Given the description of an element on the screen output the (x, y) to click on. 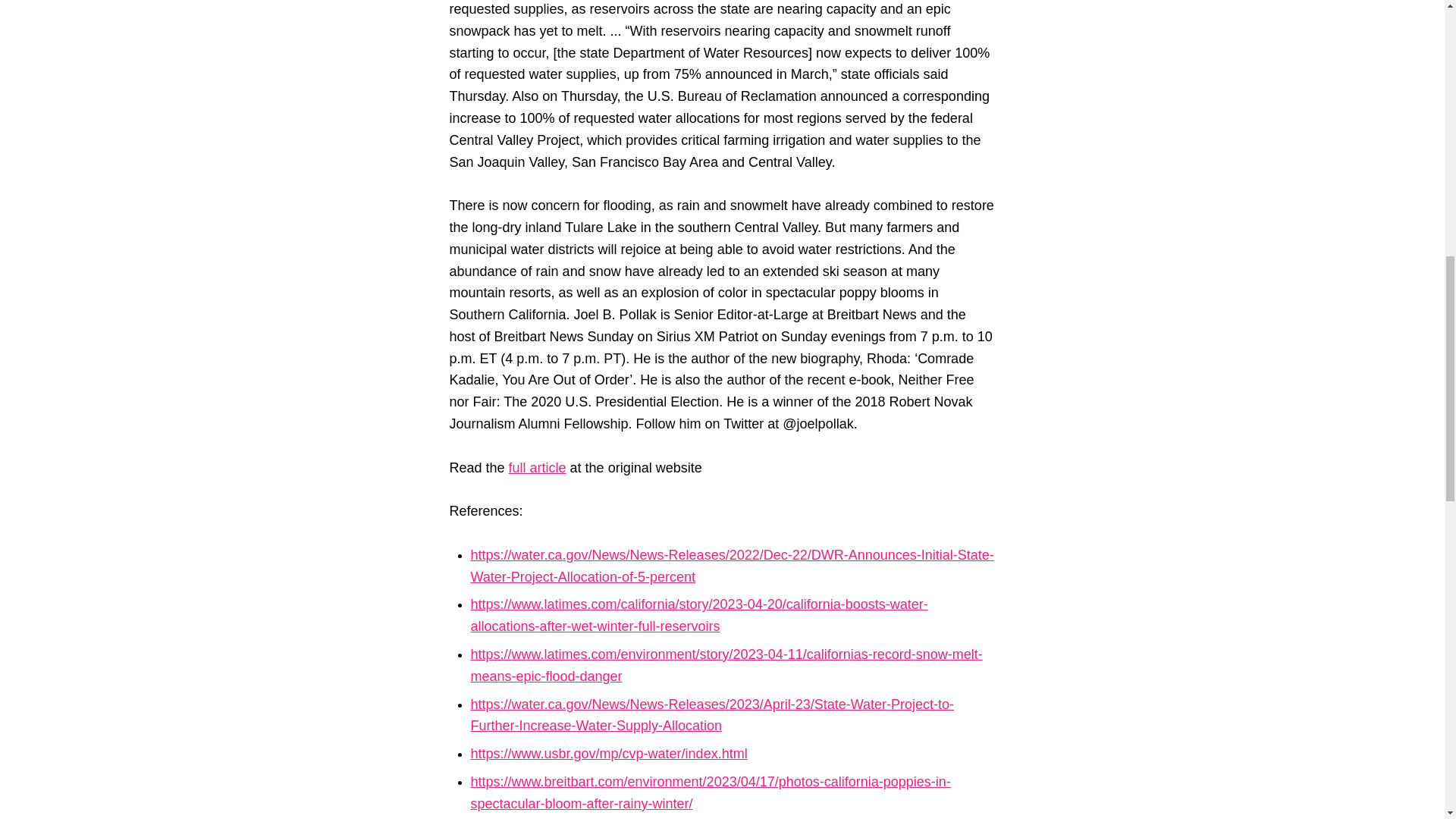
full article (537, 467)
